Given the description of an element on the screen output the (x, y) to click on. 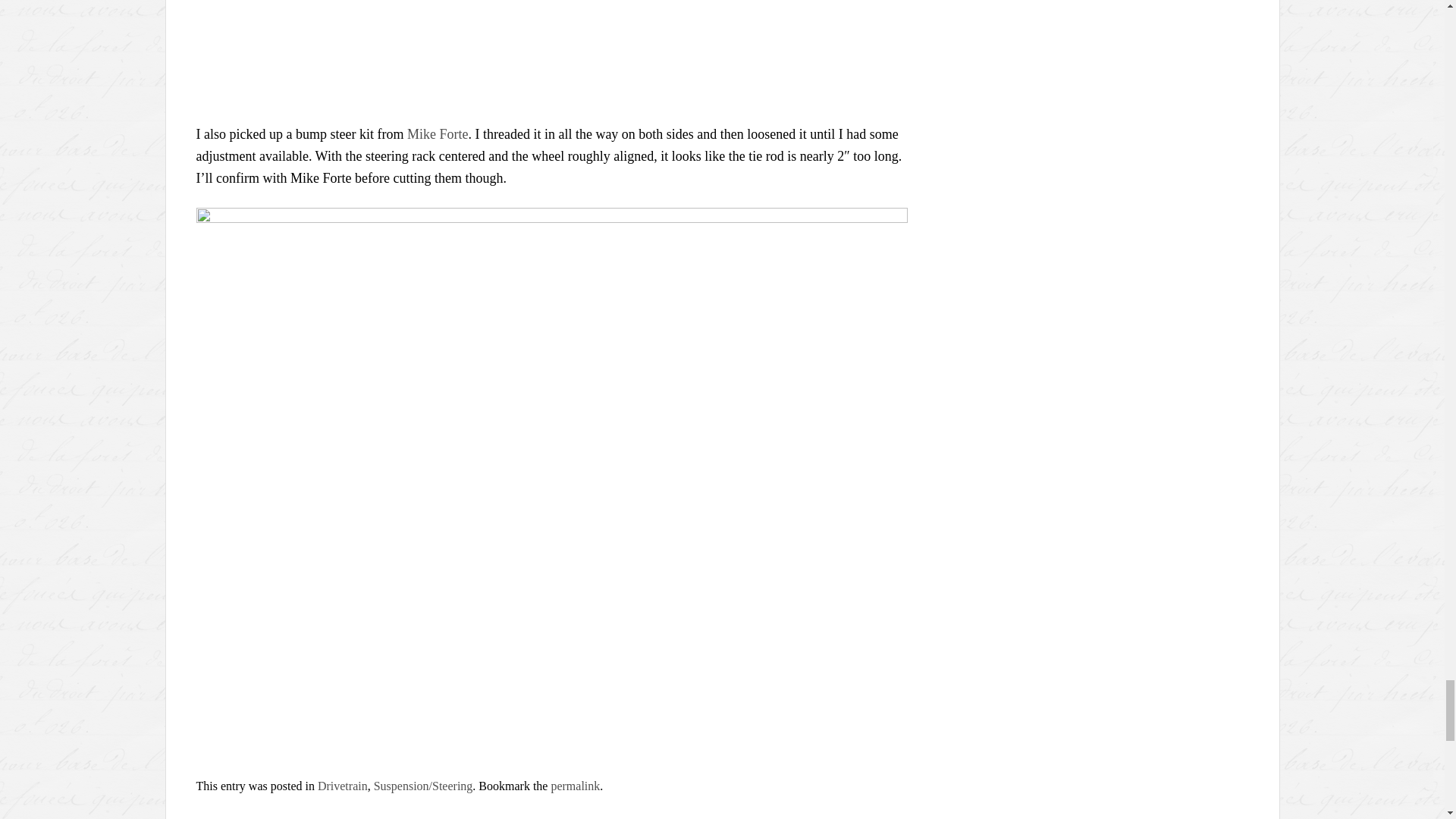
Mike Forte (437, 133)
permalink (574, 785)
Drivetrain (342, 785)
